Given the description of an element on the screen output the (x, y) to click on. 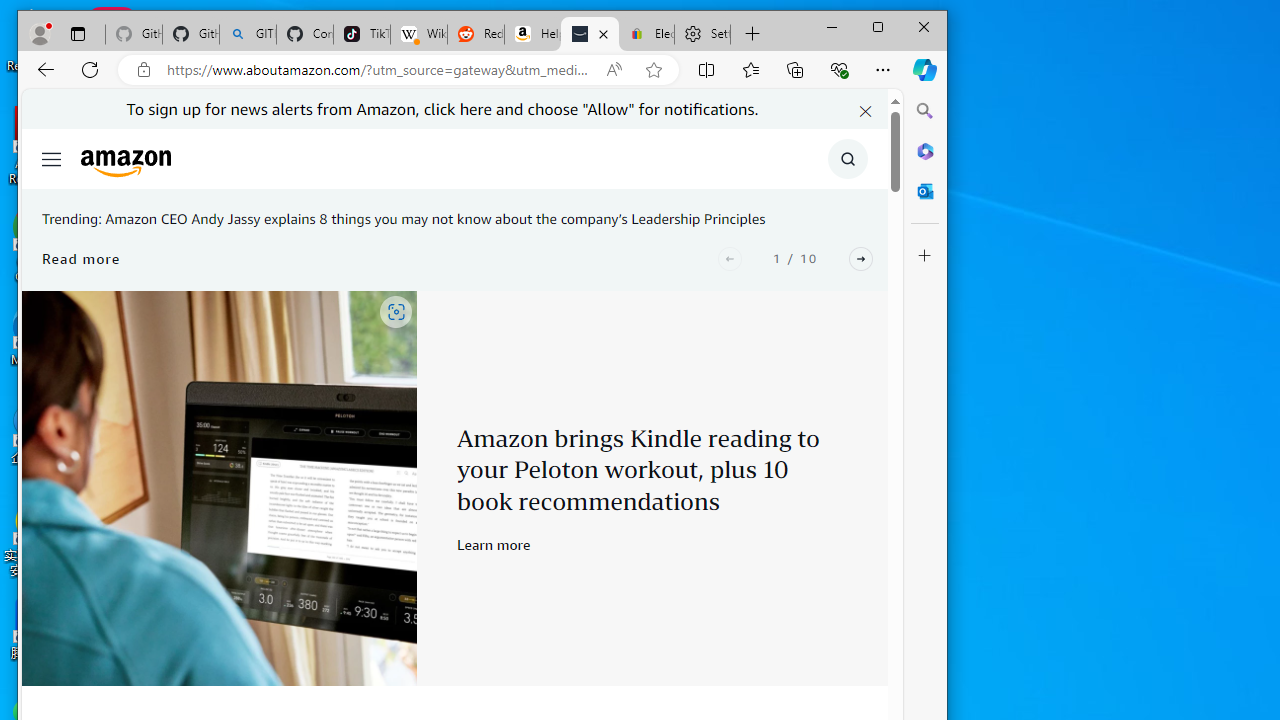
GITHUB - Search (248, 34)
Class: flickity-button-icon (861, 258)
Read more (81, 258)
